Given the description of an element on the screen output the (x, y) to click on. 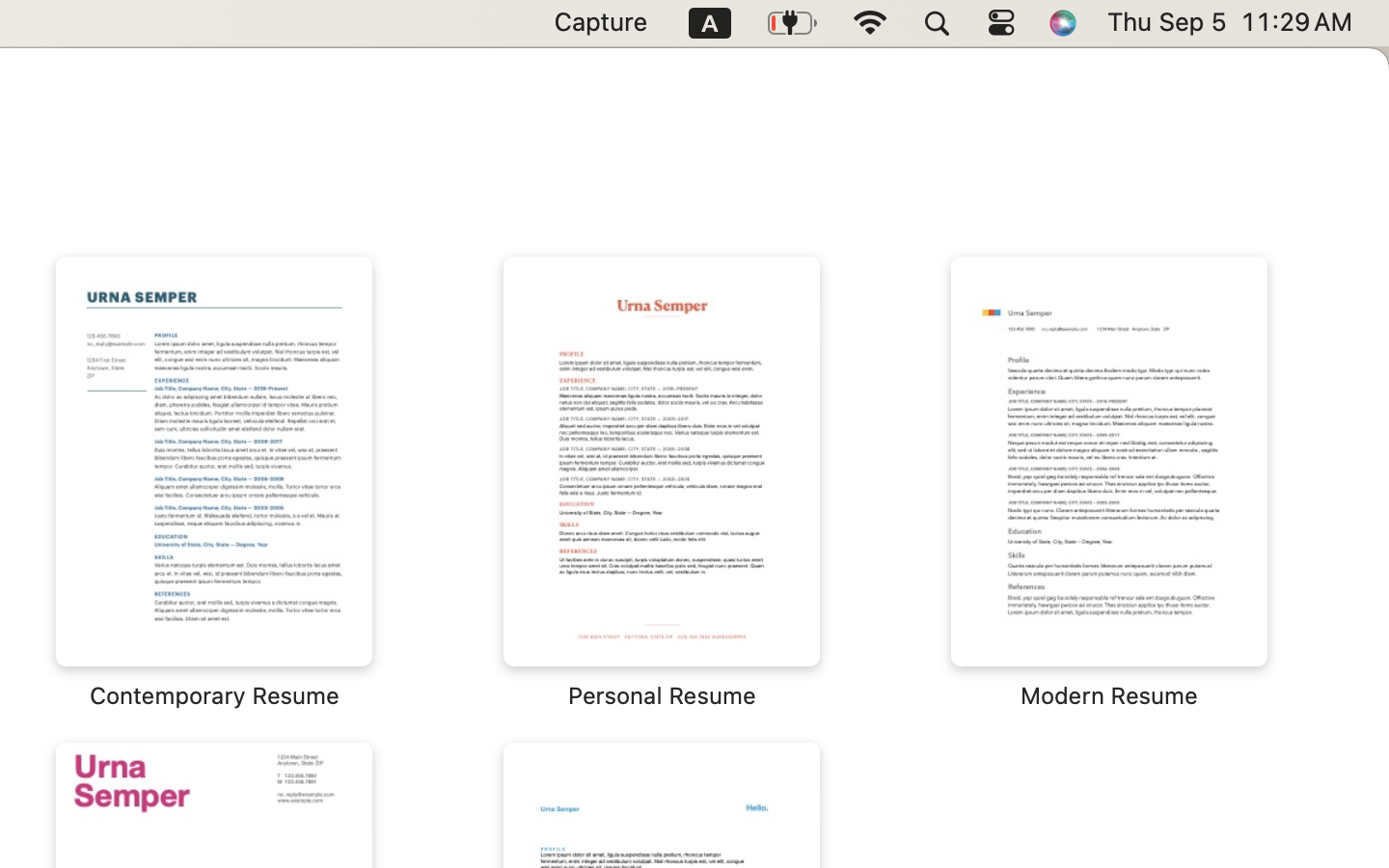
‎⁨Modern Resume⁩ Element type: AXButton (1109, 483)
‎⁨Personal Resume⁩ Element type: AXButton (661, 483)
